Given the description of an element on the screen output the (x, y) to click on. 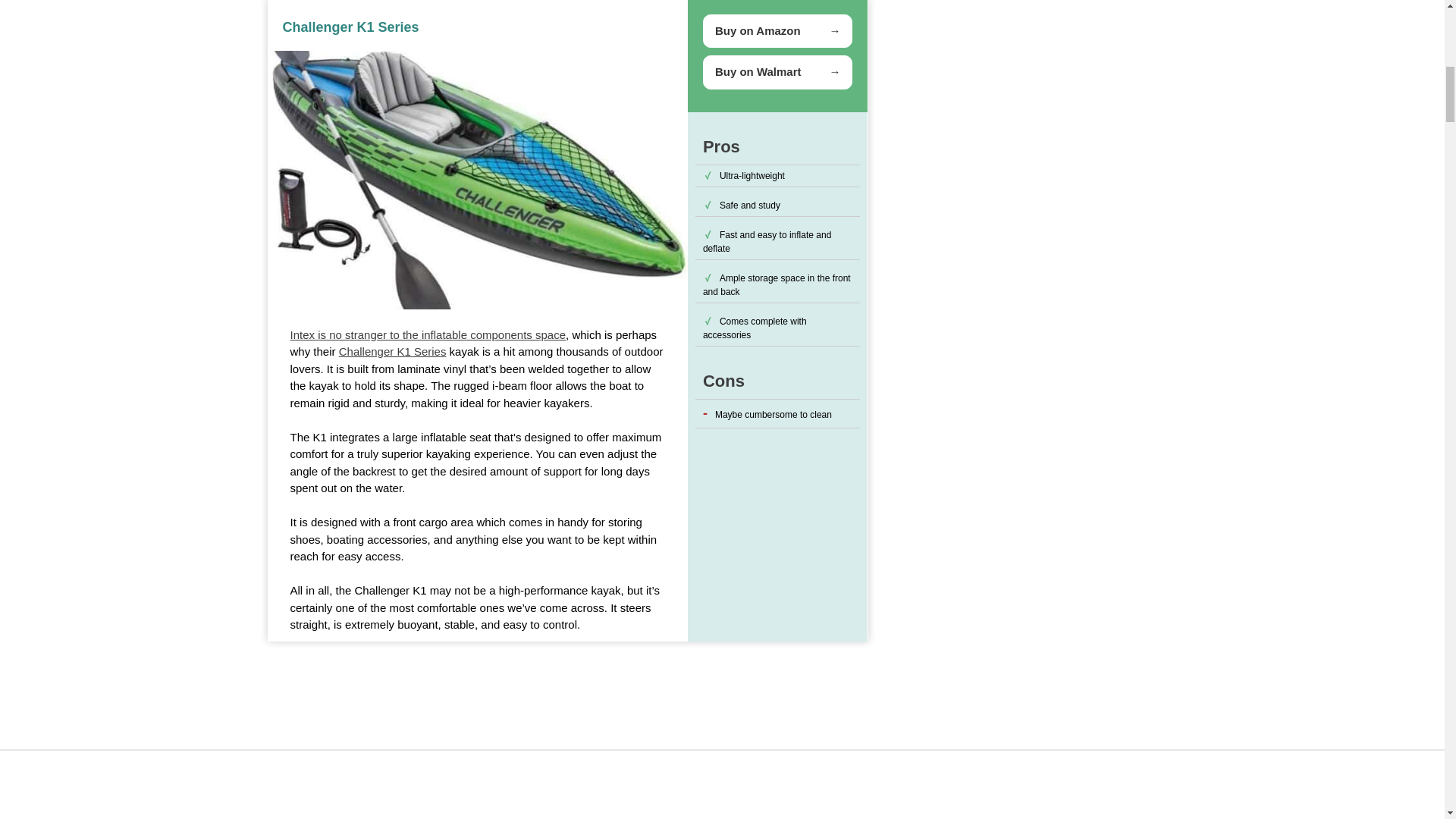
Challenger K1 Series (392, 350)
Intex is no stranger to the inflatable components space (427, 334)
